Given the description of an element on the screen output the (x, y) to click on. 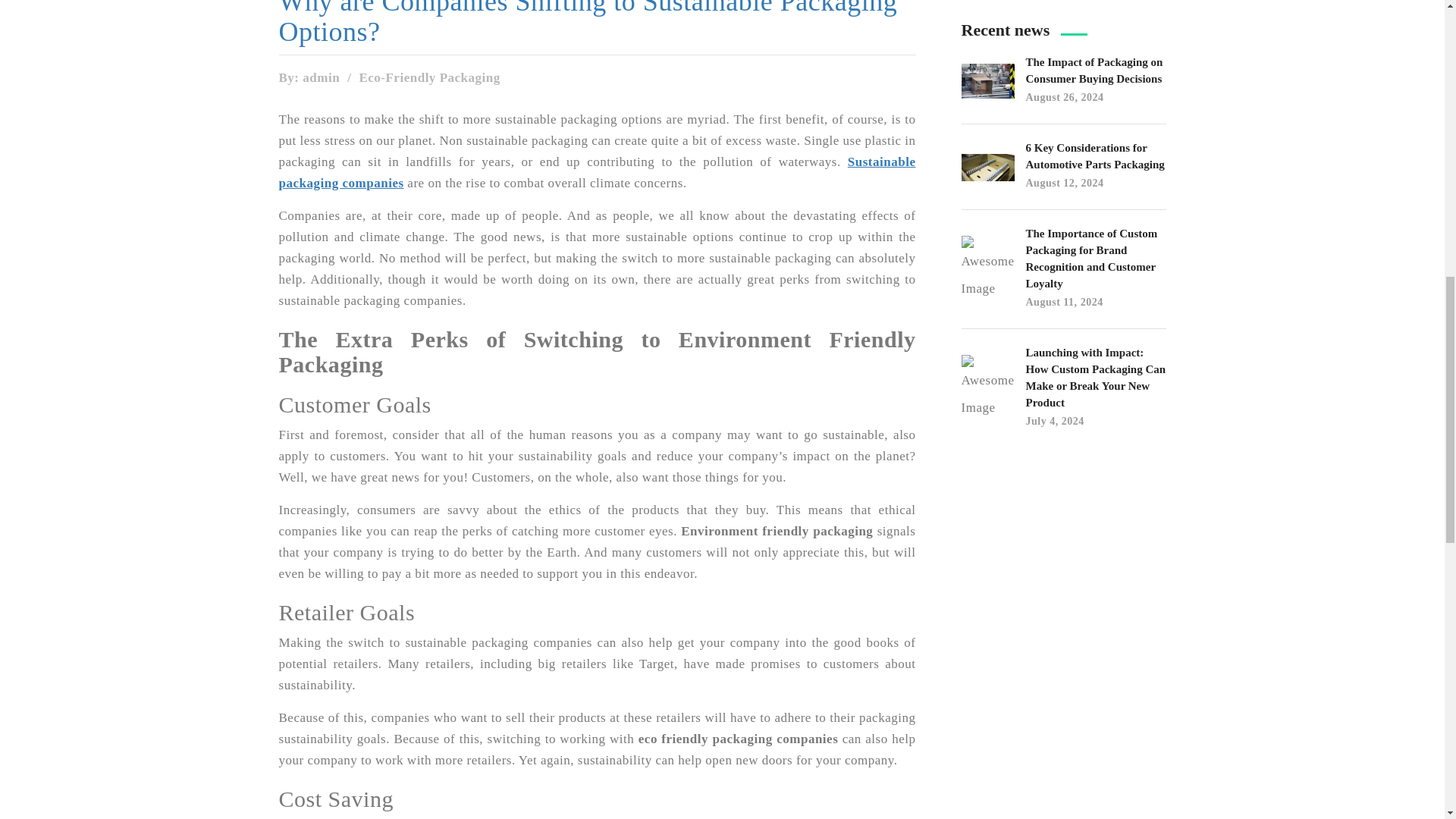
Why are Companies Shifting to Sustainable Packaging Options? (597, 23)
admin (320, 77)
Sustainable packaging companies (597, 172)
Eco-Friendly Packaging (428, 77)
